Given the description of an element on the screen output the (x, y) to click on. 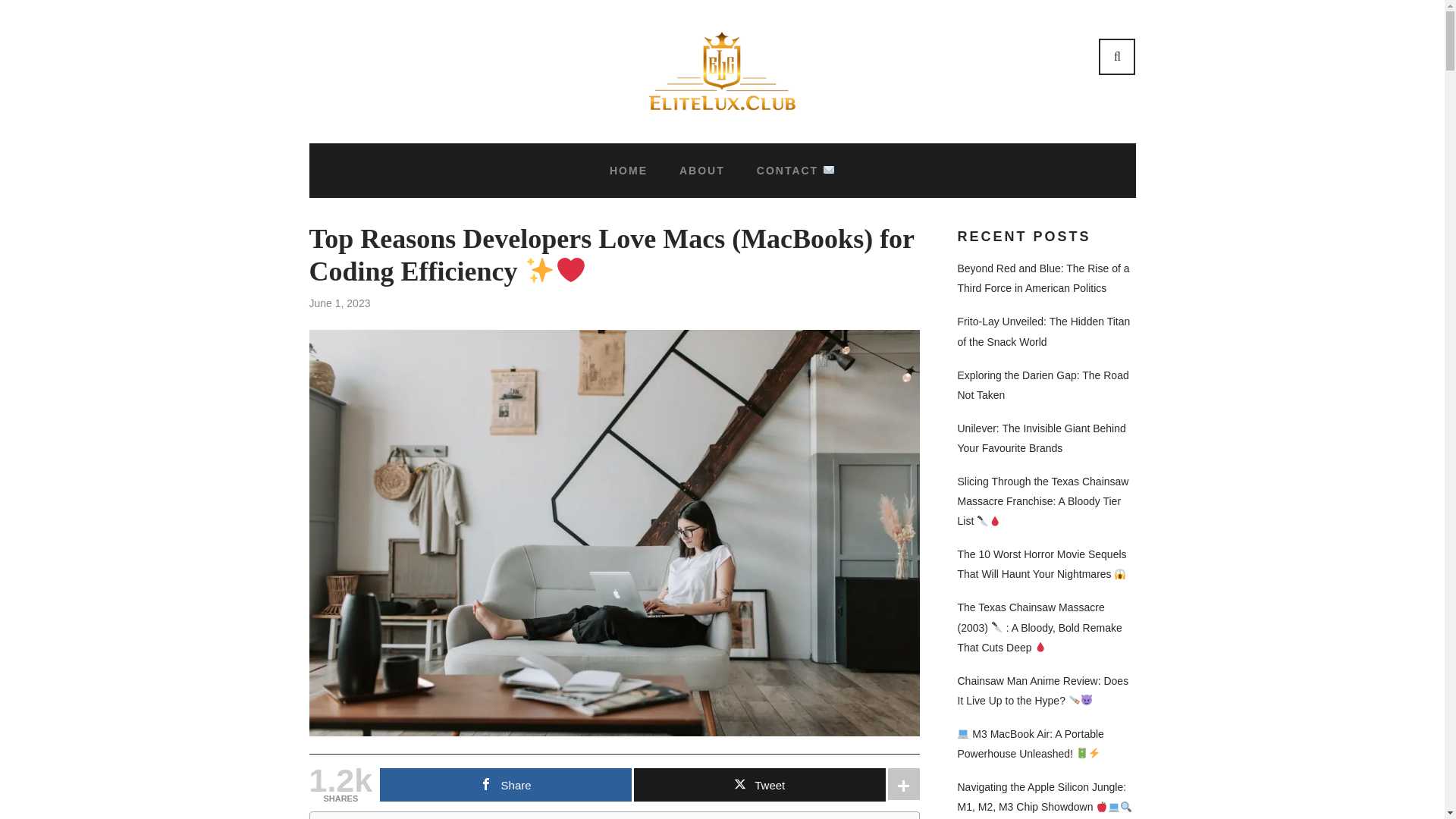
CONTACT (795, 170)
June 1, 2023 (339, 303)
ABOUT (702, 170)
HOME (628, 170)
Tweet (759, 784)
Share (505, 784)
